Given the description of an element on the screen output the (x, y) to click on. 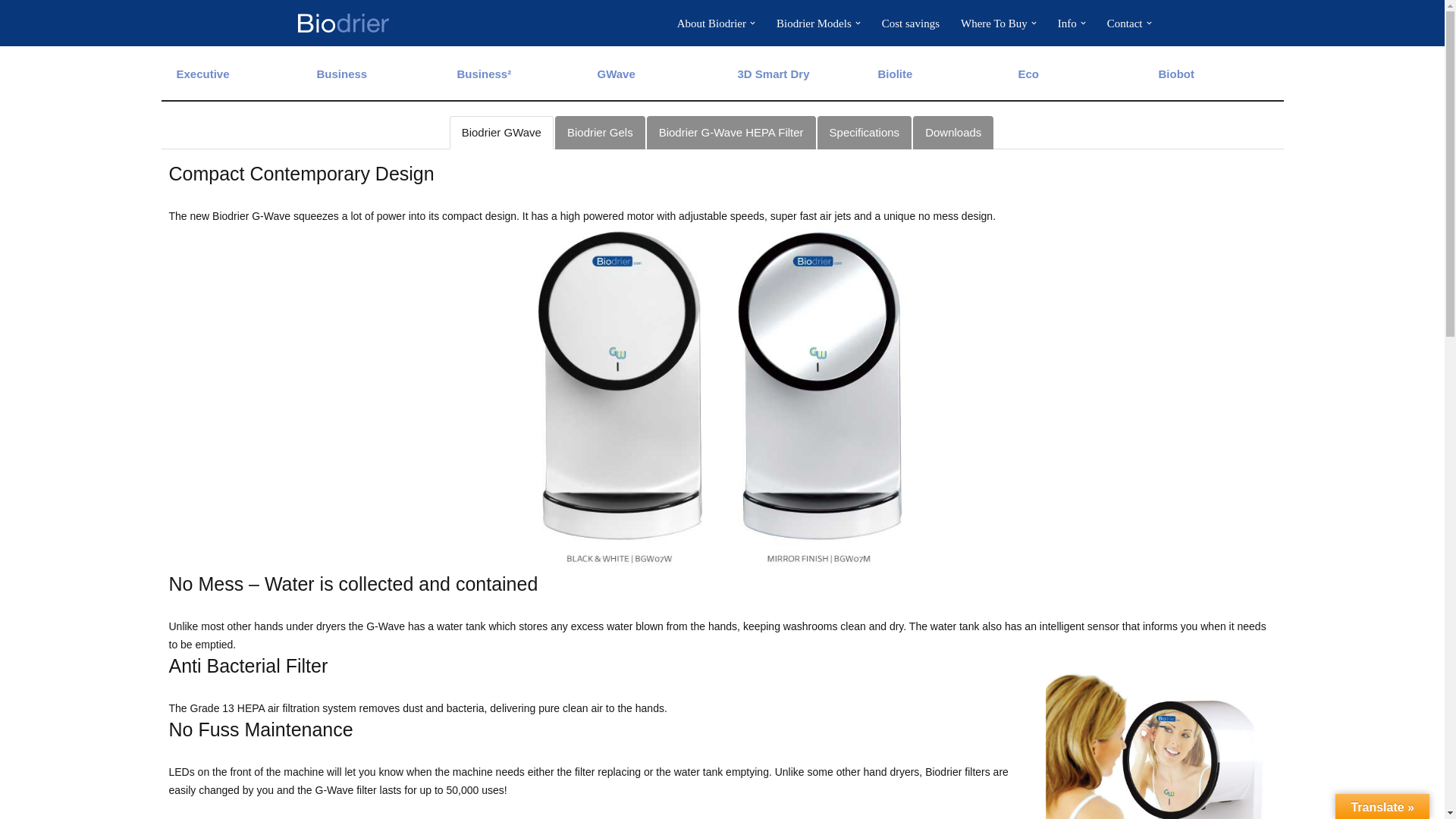
Where To Buy (993, 22)
Biodrier Executive (202, 73)
Cost savings (910, 22)
Info (1067, 22)
Biodrier Eco (1028, 73)
Biodrier BioLite (894, 73)
Skip to content (11, 31)
Biodrier Models (813, 22)
Biodrier Business (342, 73)
About Biodrier (711, 22)
